Given the description of an element on the screen output the (x, y) to click on. 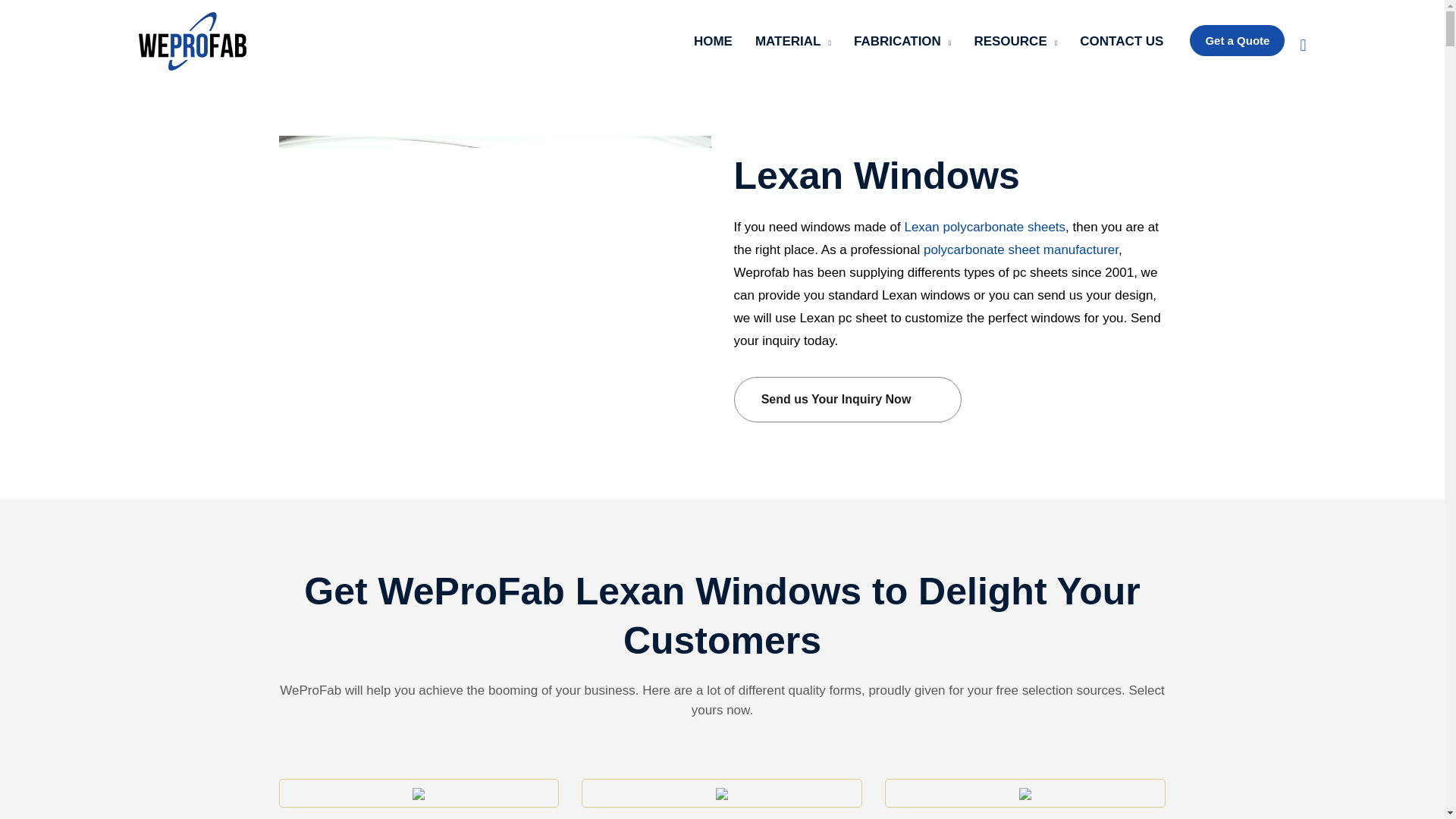
MATERIAL (793, 41)
HOME (713, 41)
